Given the description of an element on the screen output the (x, y) to click on. 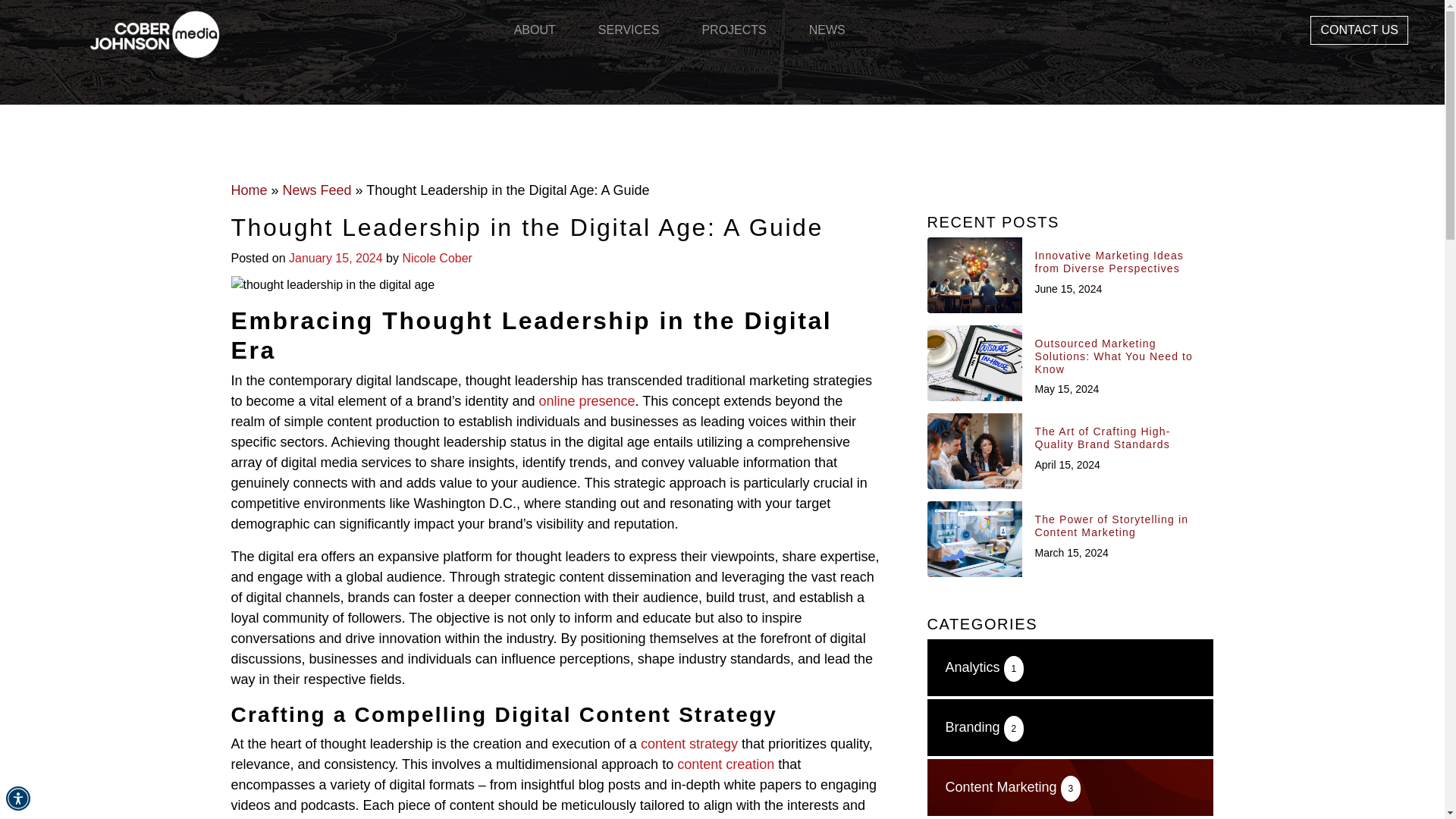
CONTACT US (1358, 30)
Innovative Marketing Ideas from Diverse Perspectives (1117, 262)
ABOUT (535, 30)
January 15, 2024 (335, 257)
content strategy (689, 743)
content creation (725, 764)
Accessibility Menu (17, 798)
online presence (586, 400)
NEWS (827, 30)
The Art of Crafting High-Quality Brand Standards (1117, 438)
SERVICES (628, 30)
PROJECTS (733, 30)
Outsourced Marketing Solutions: What You Need to Know (1117, 356)
News Feed (317, 190)
Nicole Cober (436, 257)
